Given the description of an element on the screen output the (x, y) to click on. 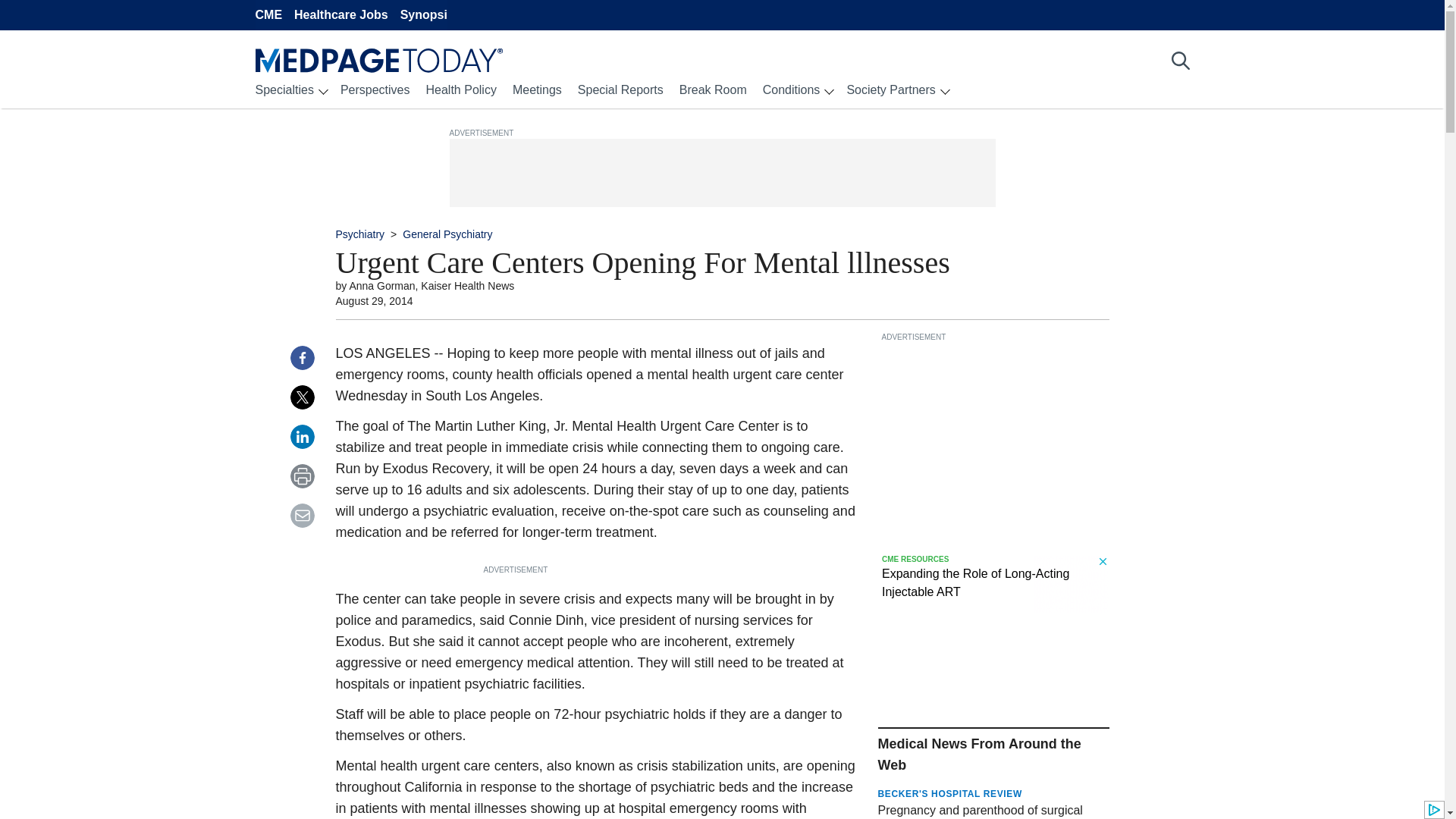
Opens in a new tab or window (993, 810)
Share on Facebook. Opens in a new tab or window (301, 357)
3rd party ad content (994, 583)
3rd party ad content (994, 437)
Healthcare Jobs (341, 14)
3rd party ad content (724, 172)
CME (268, 14)
Share on LinkedIn. Opens in a new tab or window (301, 436)
Share on X. Opens in a new tab or window (301, 396)
Synopsi (423, 14)
Specialties (283, 89)
